Given the description of an element on the screen output the (x, y) to click on. 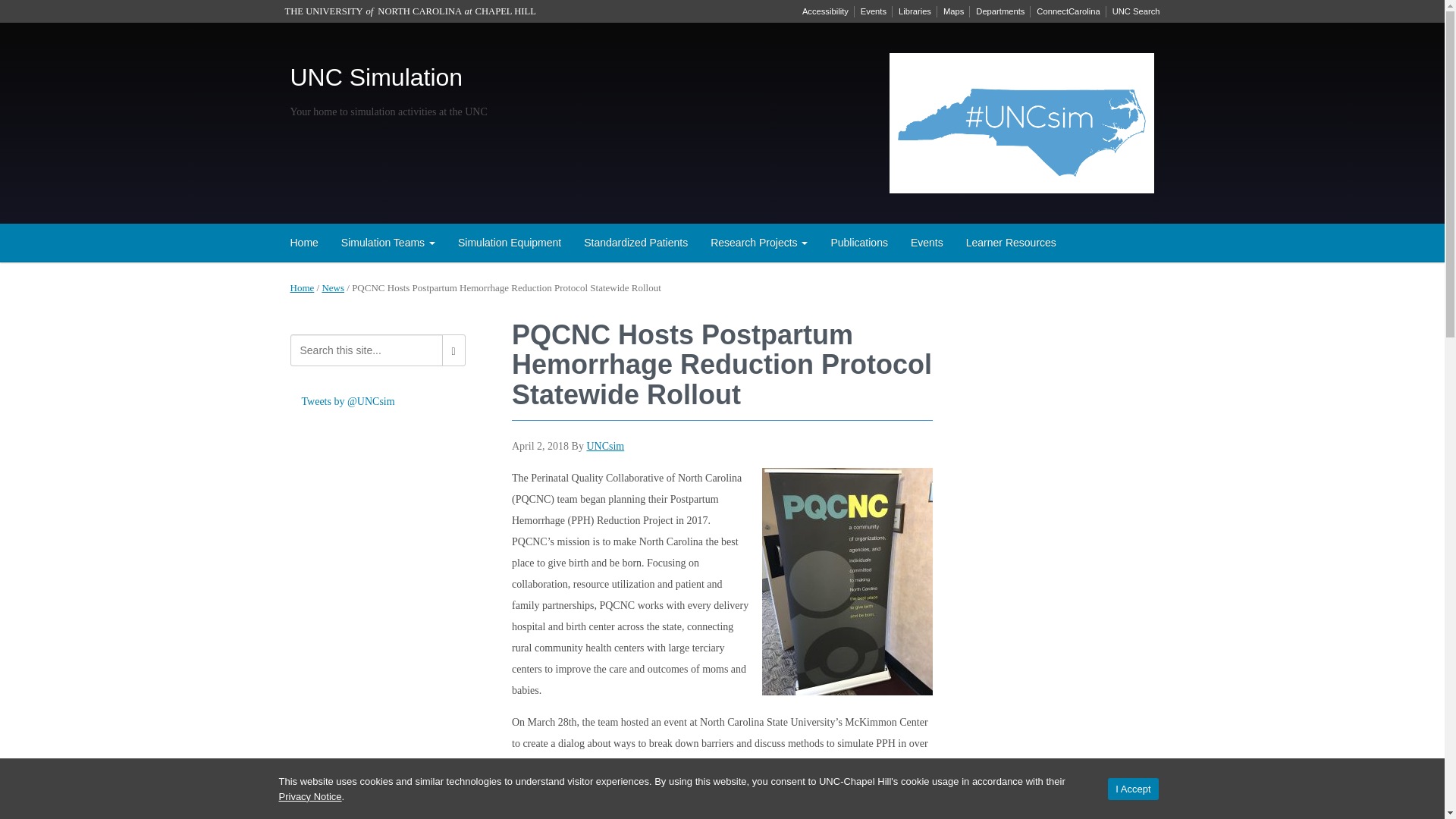
Events (873, 11)
THE UNIVERSITY of NORTH CAROLINA at CHAPEL HILL (410, 11)
Maps (953, 11)
Standardized Patients (635, 242)
Events (927, 242)
Simulation Teams (388, 242)
Privacy Notice (310, 795)
I Accept (1132, 789)
Home (304, 242)
Research Projects (758, 242)
